Given the description of an element on the screen output the (x, y) to click on. 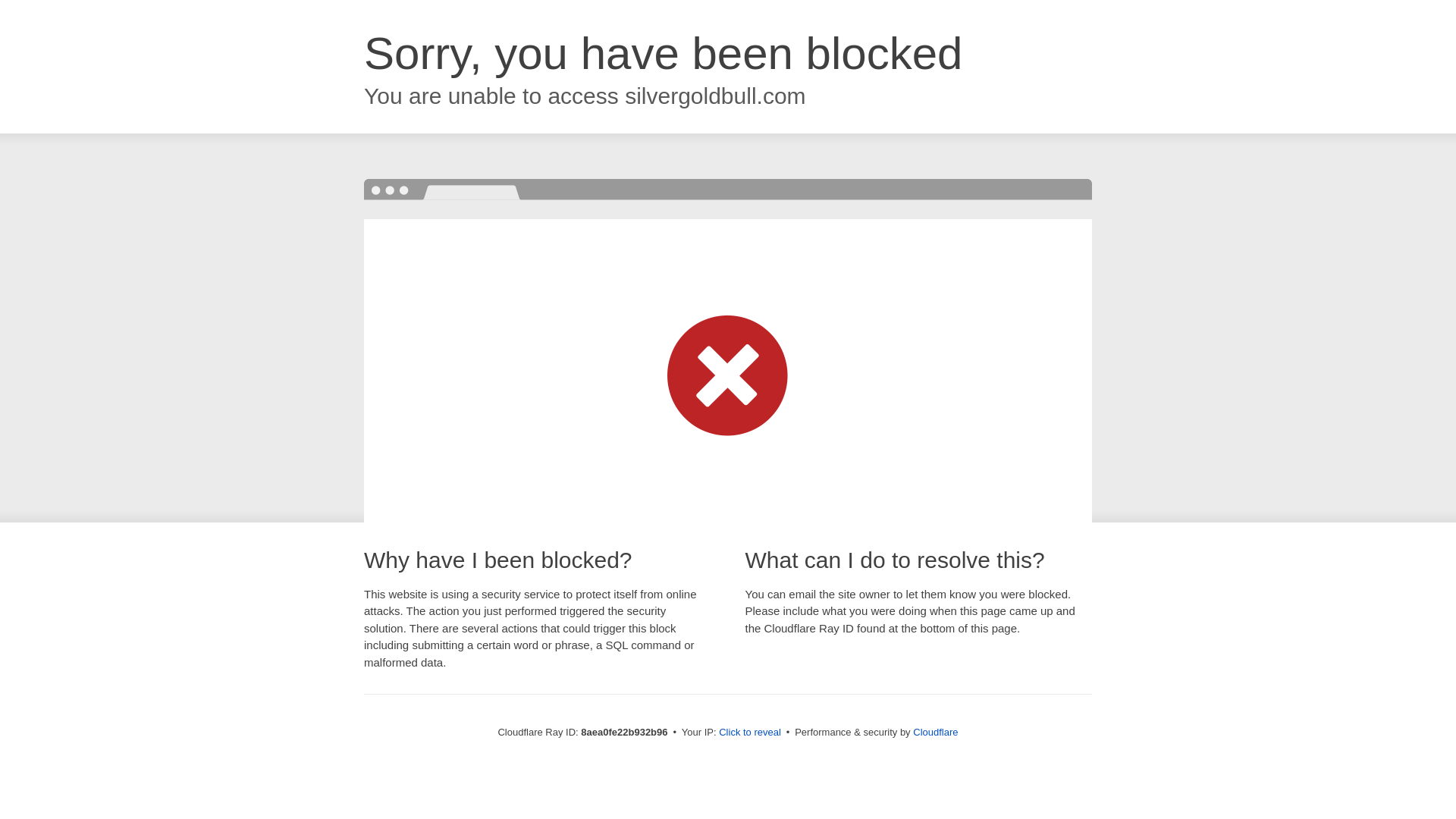
Click to reveal (749, 732)
Cloudflare (935, 731)
